Given the description of an element on the screen output the (x, y) to click on. 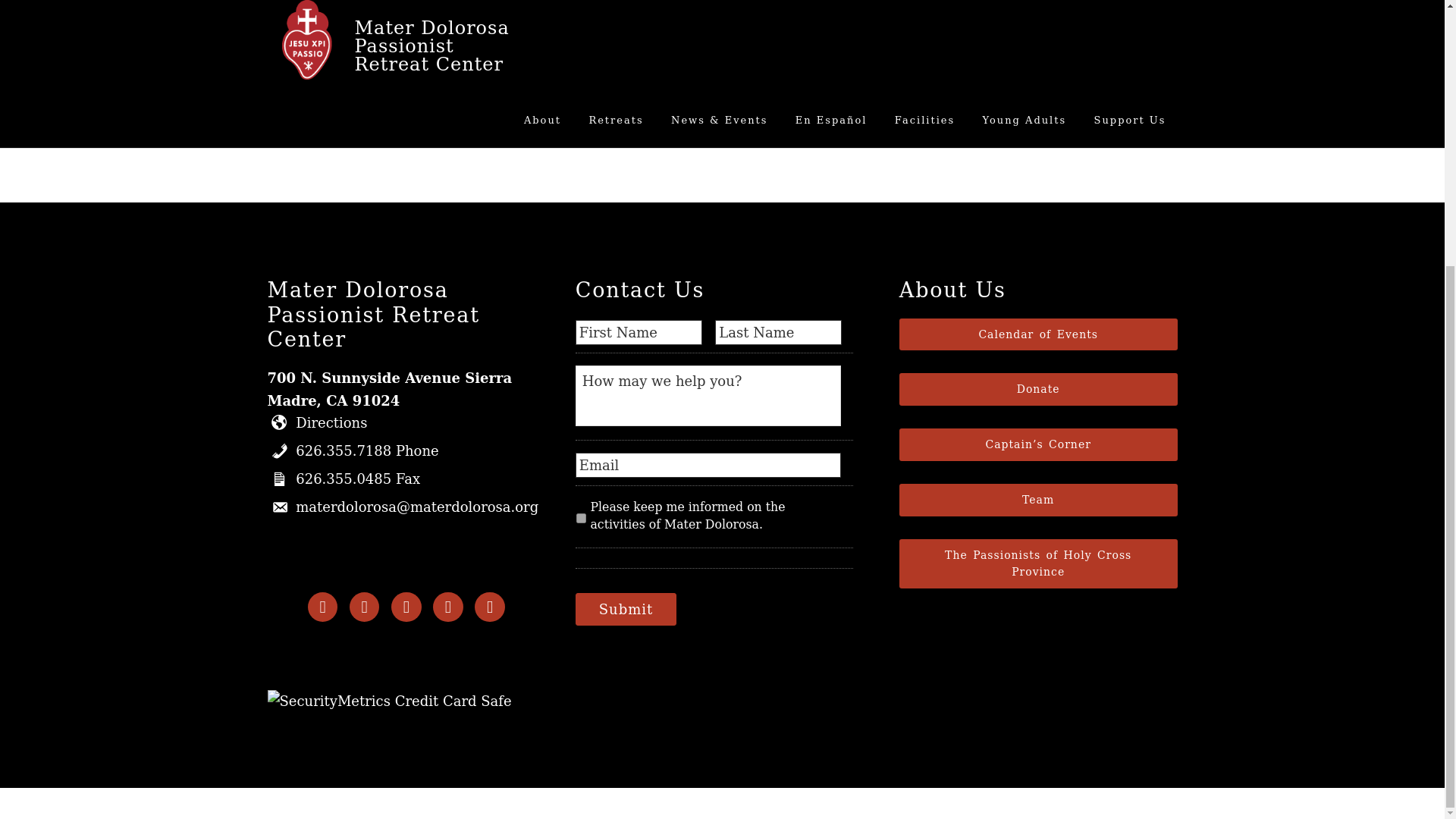
Please keep me informed on the activities of Mater Dolorosa. (581, 518)
First Name (638, 332)
Last Name (777, 332)
Submit (626, 608)
